Given the description of an element on the screen output the (x, y) to click on. 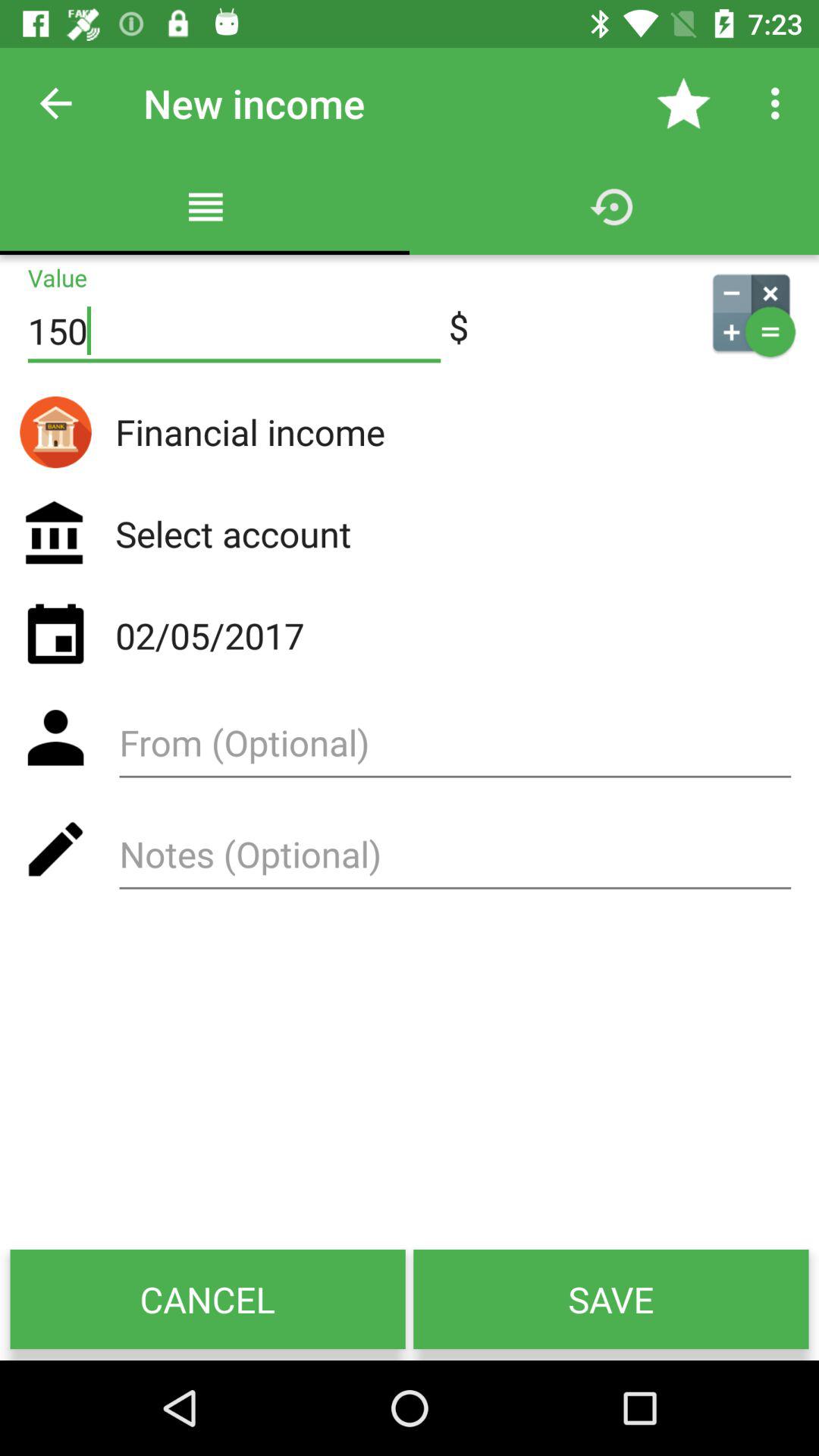
type from who (455, 748)
